Given the description of an element on the screen output the (x, y) to click on. 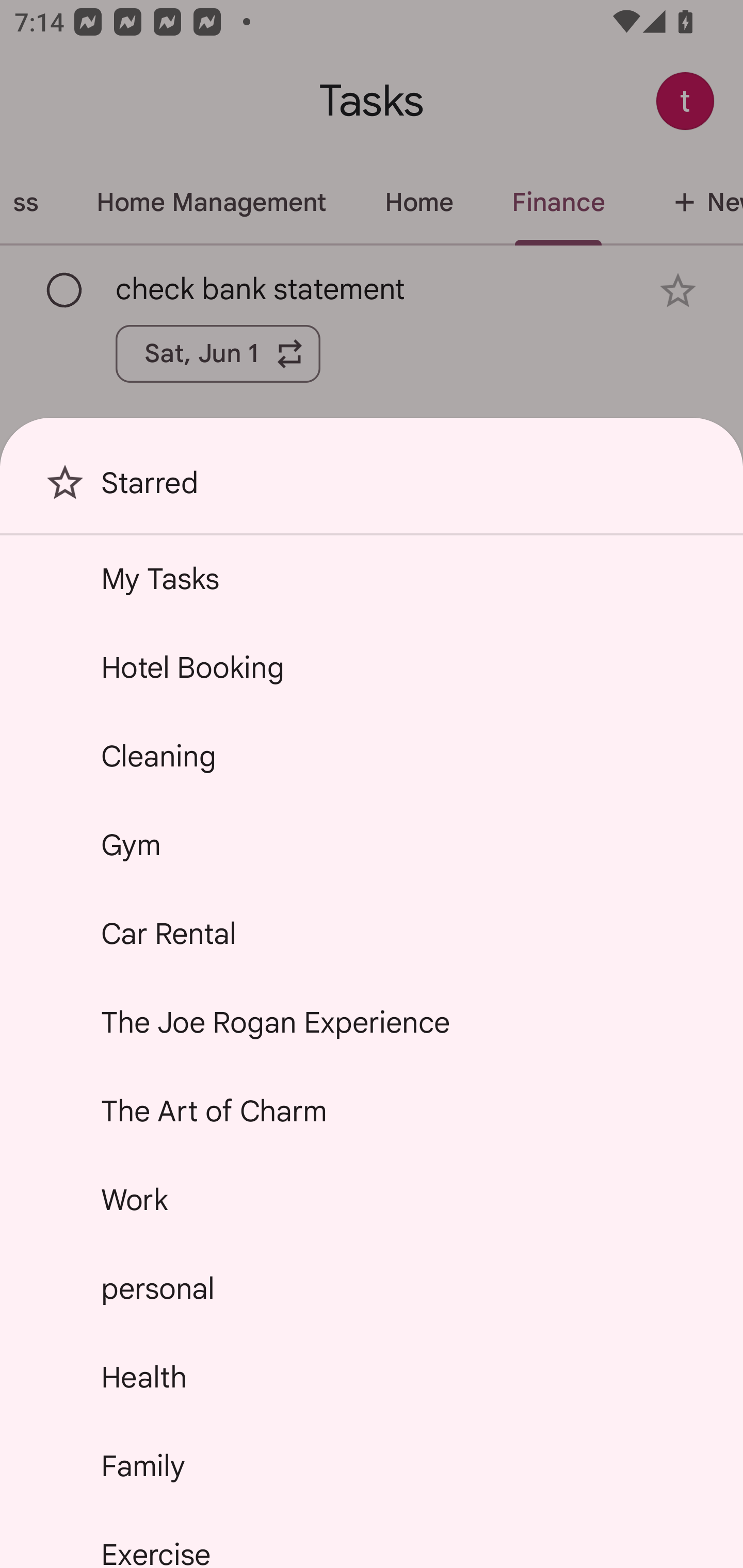
Starred (371, 489)
My Tasks (371, 578)
Hotel Booking (371, 667)
Cleaning (371, 756)
Gym (371, 844)
Car Rental (371, 933)
The Joe Rogan Experience (371, 1022)
The Art of Charm (371, 1110)
Work (371, 1200)
personal (371, 1287)
Health (371, 1377)
Family (371, 1465)
Exercise (371, 1539)
